Given the description of an element on the screen output the (x, y) to click on. 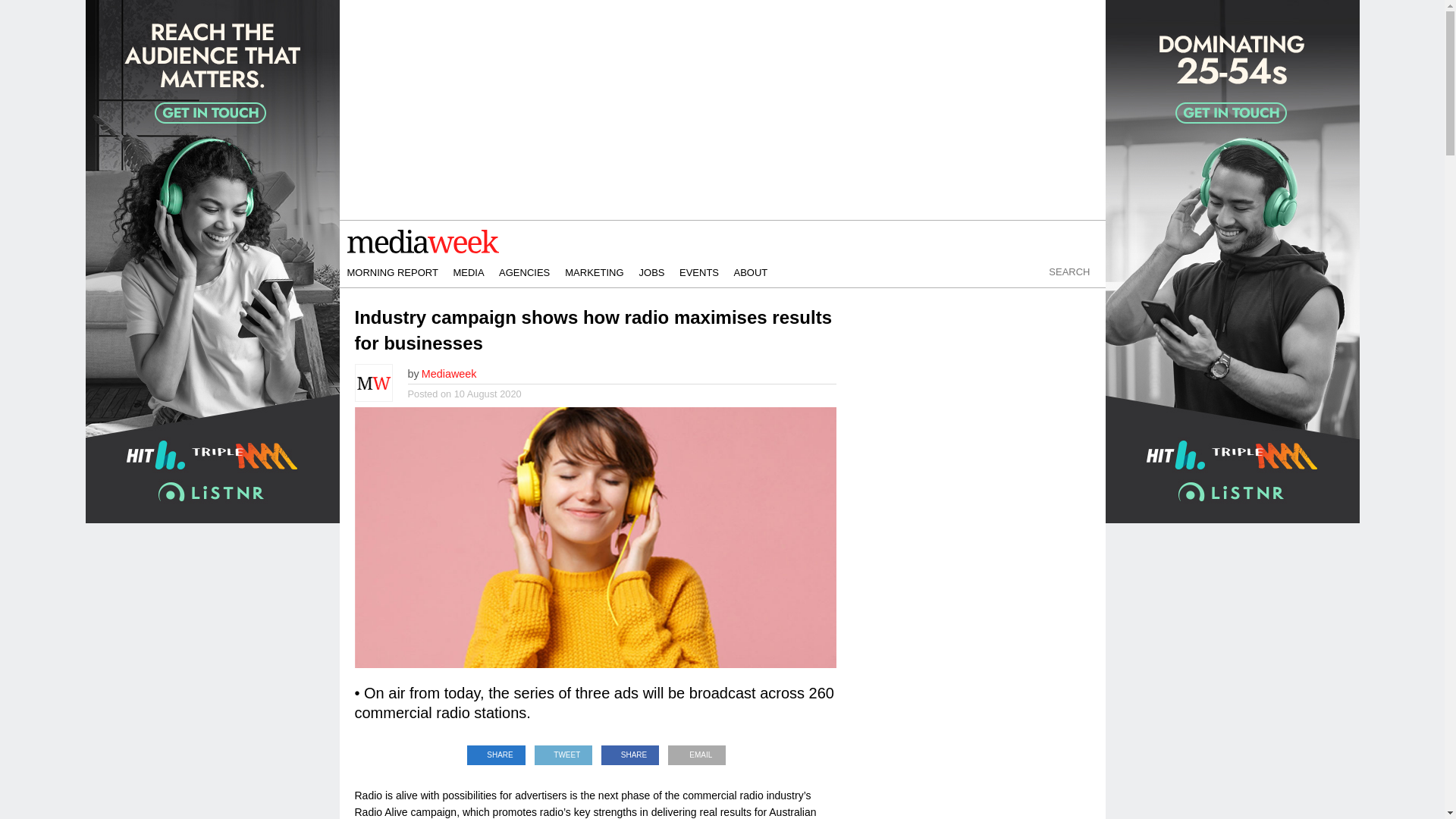
Tweet This Post (563, 750)
3rd party ad content (976, 719)
3rd party ad content (976, 449)
Posts by Mediaweek (449, 373)
Share on Facebook (630, 750)
Share on LinkedIn (496, 750)
